Given the description of an element on the screen output the (x, y) to click on. 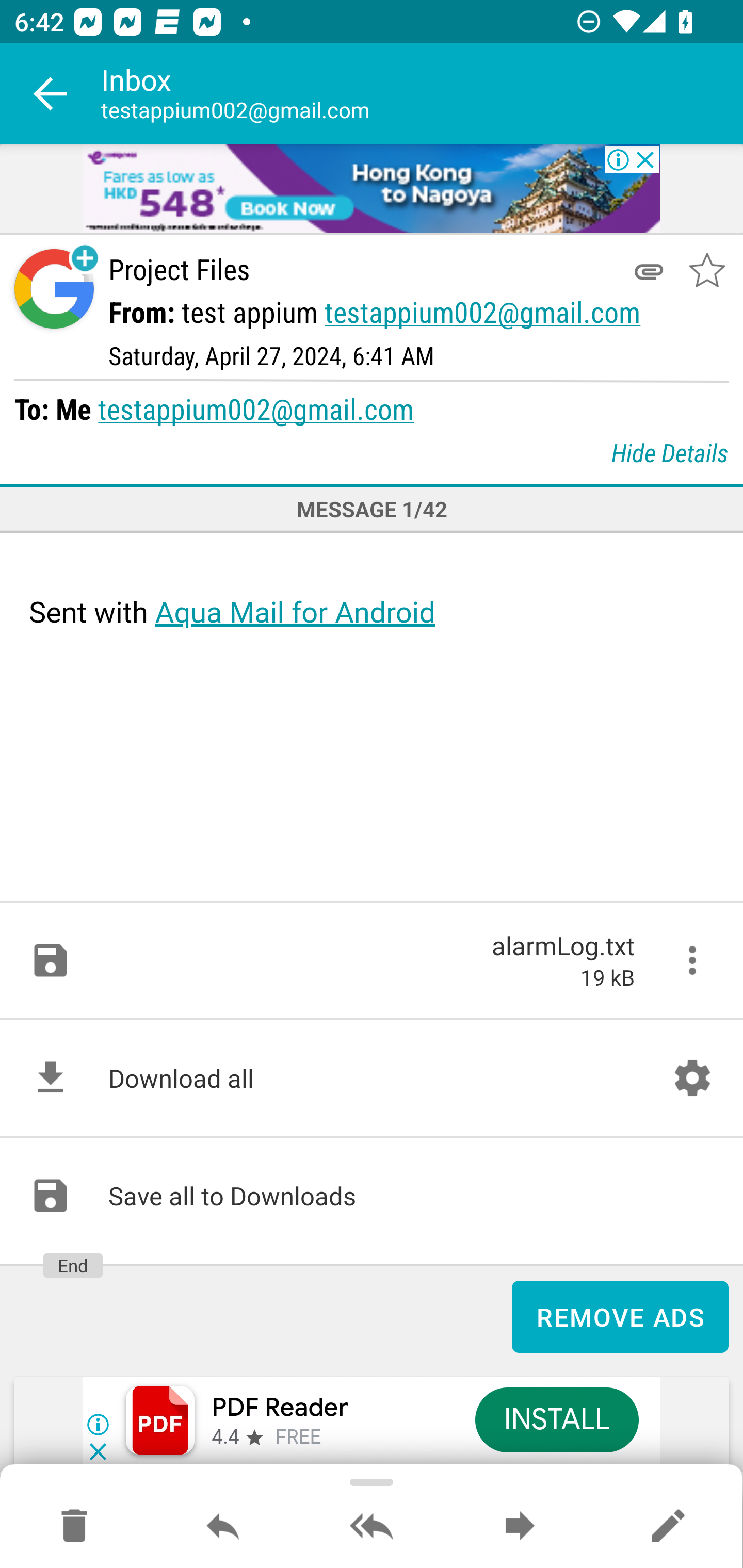
Navigate up (50, 93)
Inbox testappium002@gmail.com (422, 93)
Advertisement (371, 189)
Sender contact button (53, 289)
Aqua Mail for Android (294, 612)
alarmLog.txt 19 kB More options (371, 960)
More options (692, 960)
Download all Account setup (371, 1077)
Account setup (692, 1077)
Save all to Downloads (371, 1195)
REMOVE ADS (619, 1317)
INSTALL (556, 1419)
PDF Reader (279, 1407)
4.4 (224, 1437)
FREE (298, 1437)
Move to Deleted (74, 1527)
Reply (222, 1527)
Reply all (371, 1527)
Forward (519, 1527)
Reply as new (667, 1527)
